Given the description of an element on the screen output the (x, y) to click on. 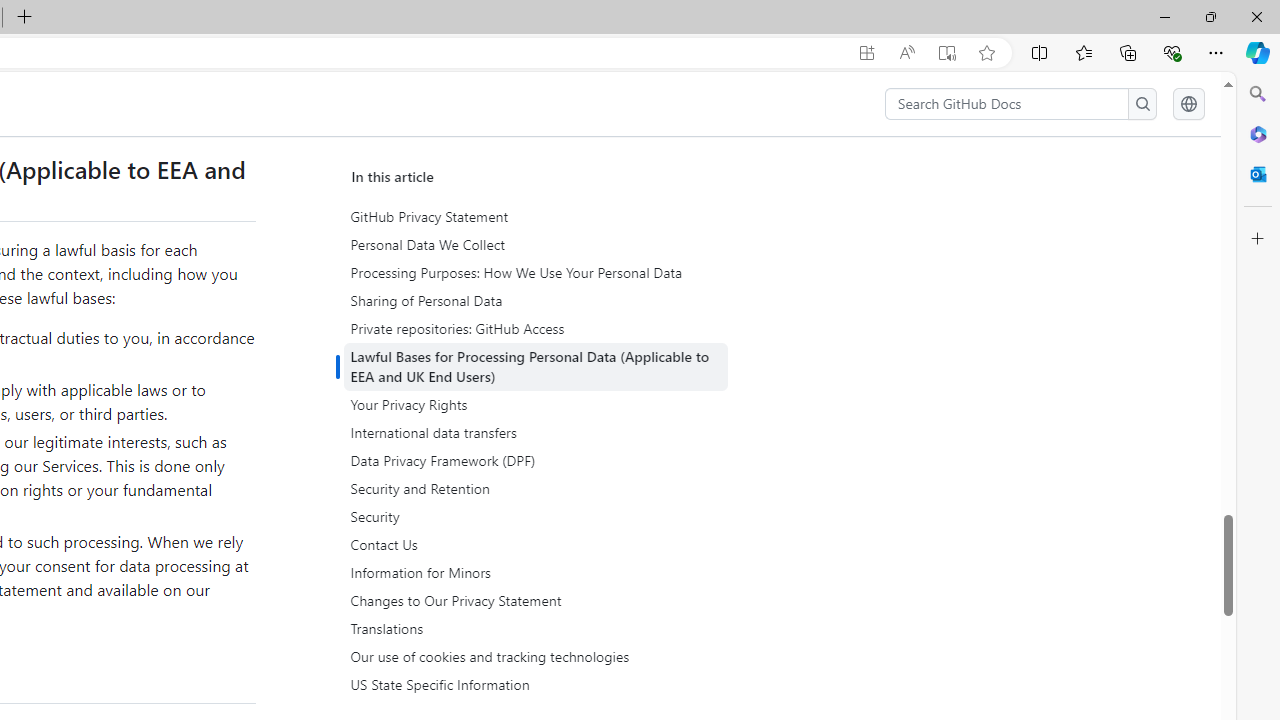
Your Privacy Rights (538, 404)
Private repositories: GitHub Access (538, 328)
Our use of cookies and tracking technologies (535, 656)
Your Privacy Rights (535, 404)
Data Privacy Framework (DPF) (535, 461)
Security and Retention (535, 489)
International data transfers (535, 433)
GitHub Privacy Statement (538, 217)
Security (538, 517)
US State Specific Information (538, 685)
